Given the description of an element on the screen output the (x, y) to click on. 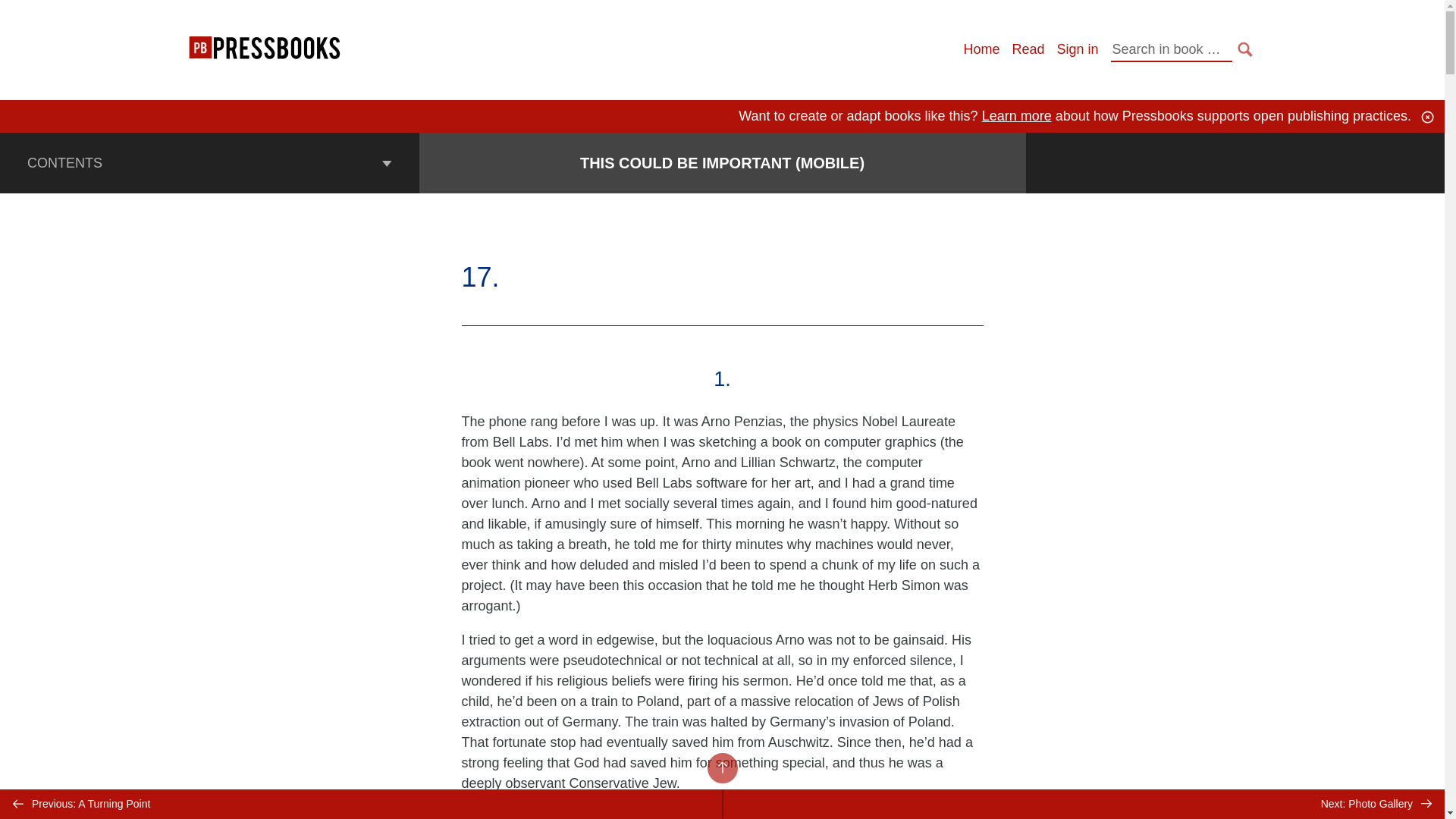
CONTENTS (209, 162)
Learn more (1016, 115)
SEARCH (1244, 49)
Home (980, 48)
Previous: A Turning Point (361, 804)
Read (1027, 48)
Previous: A Turning Point (361, 804)
Sign in (1077, 48)
BACK TO TOP (721, 767)
